Given the description of an element on the screen output the (x, y) to click on. 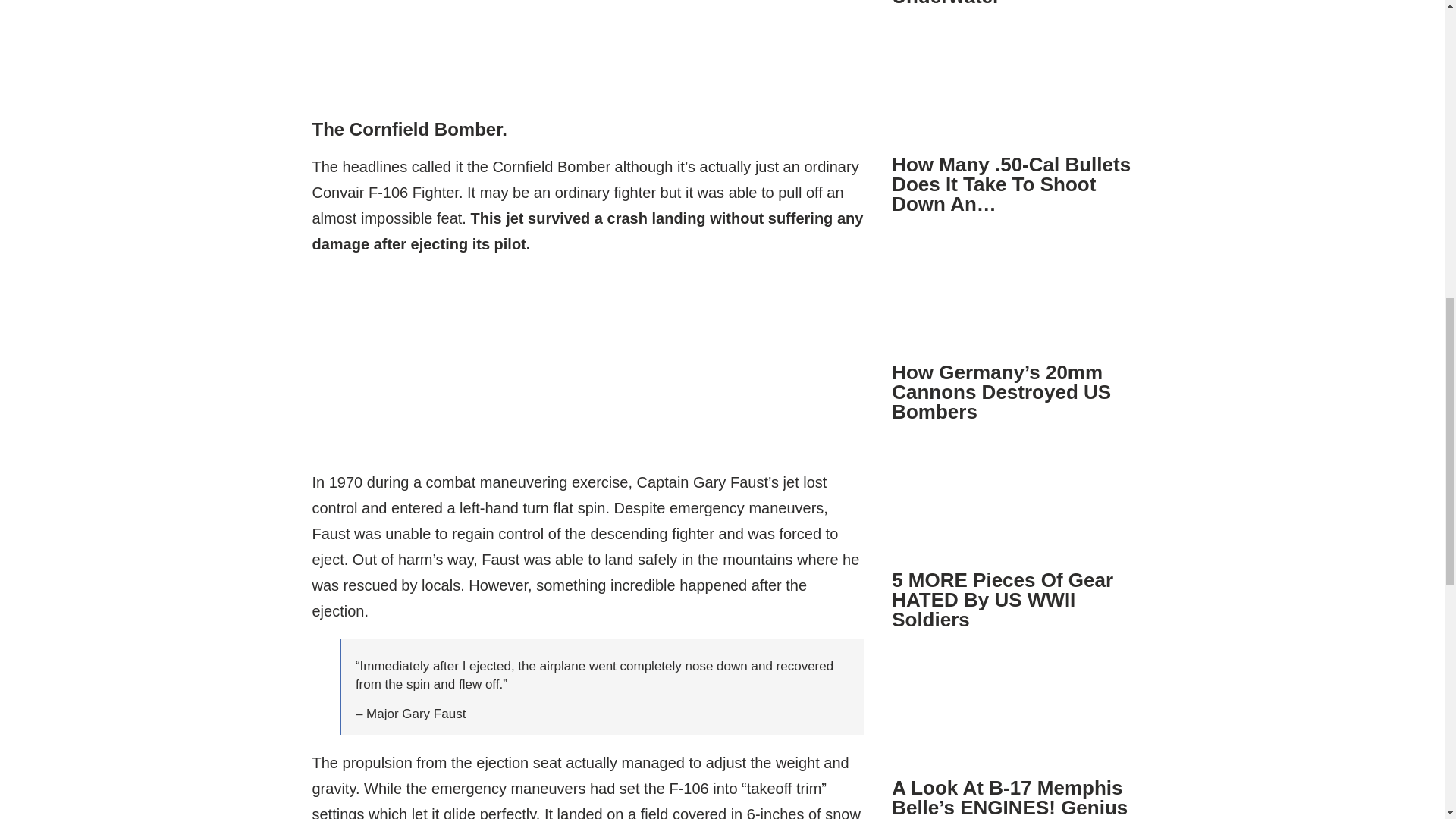
Watch Divers Discover USS Johnston Deep Underwater (998, 3)
